Given the description of an element on the screen output the (x, y) to click on. 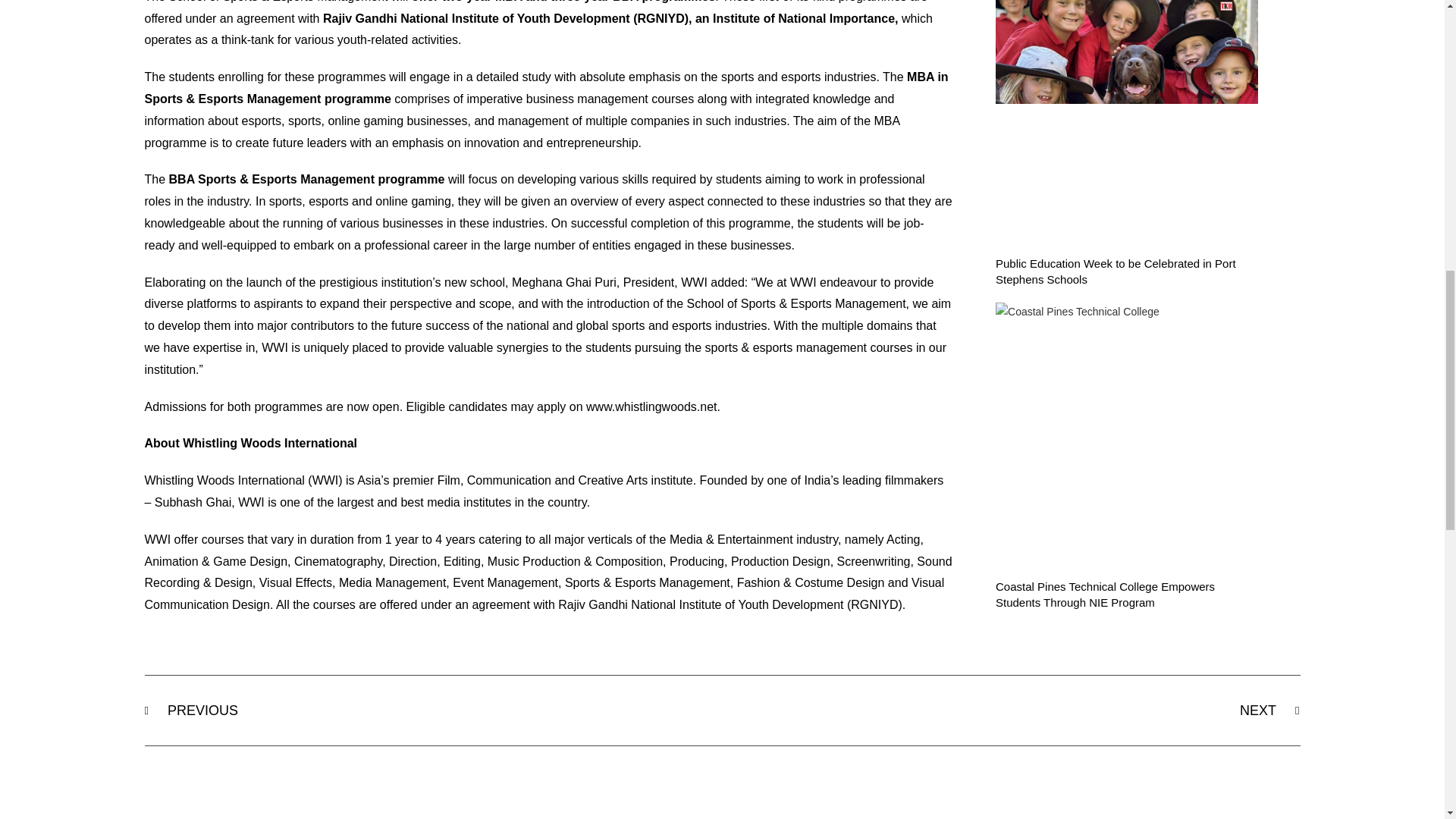
PREVIOUS (433, 710)
NEXT (1011, 710)
